Given the description of an element on the screen output the (x, y) to click on. 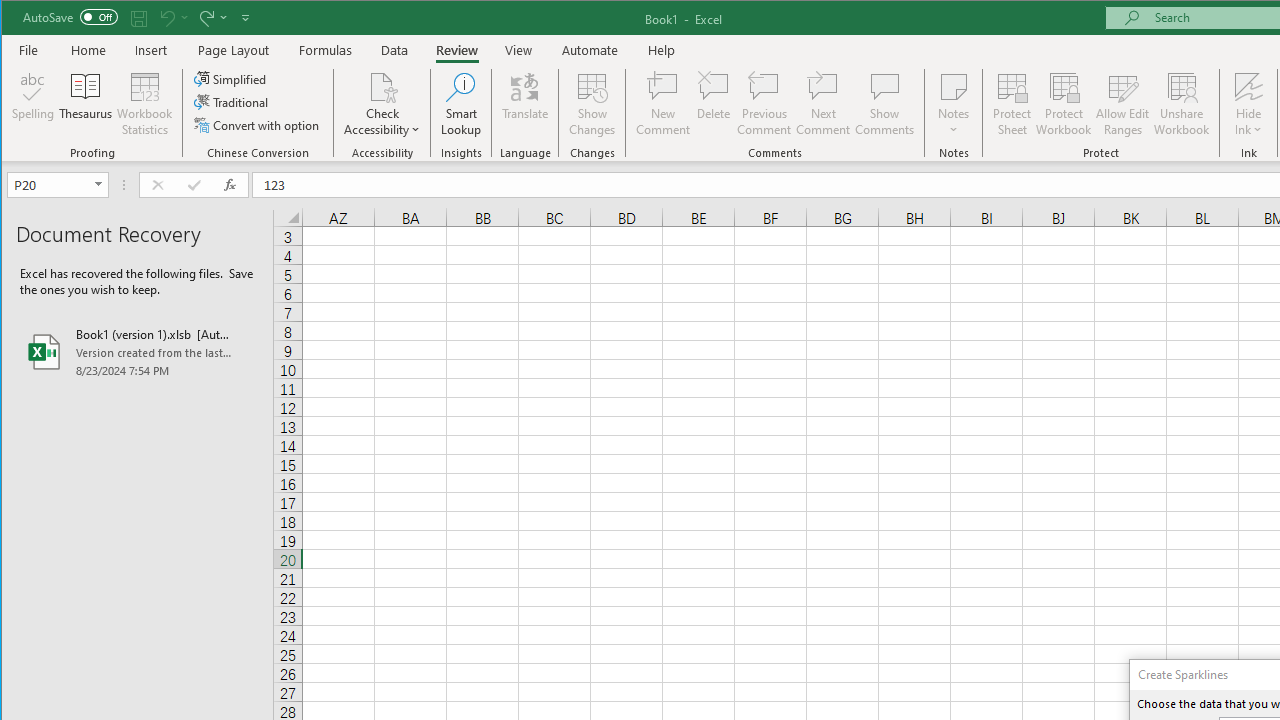
Protect Sheet... (1012, 104)
Delete (713, 104)
Show Changes (592, 104)
Allow Edit Ranges (1123, 104)
Traditional (232, 101)
Save (139, 17)
Next Comment (822, 104)
Hide Ink (1248, 104)
Review (456, 50)
New Comment (662, 104)
Unshare Workbook (1182, 104)
Notes (954, 104)
